Given the description of an element on the screen output the (x, y) to click on. 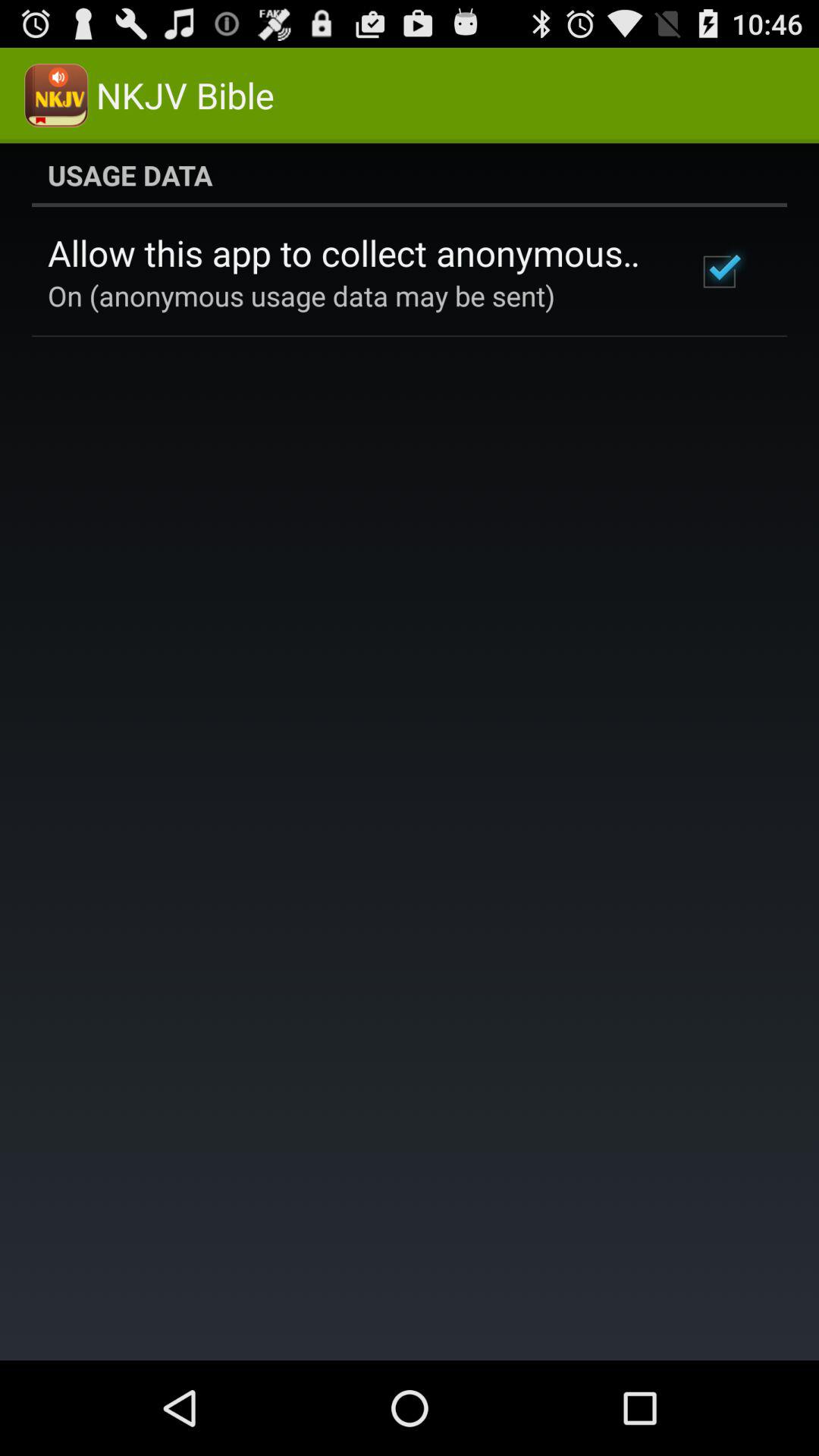
select item to the right of the allow this app (719, 271)
